Given the description of an element on the screen output the (x, y) to click on. 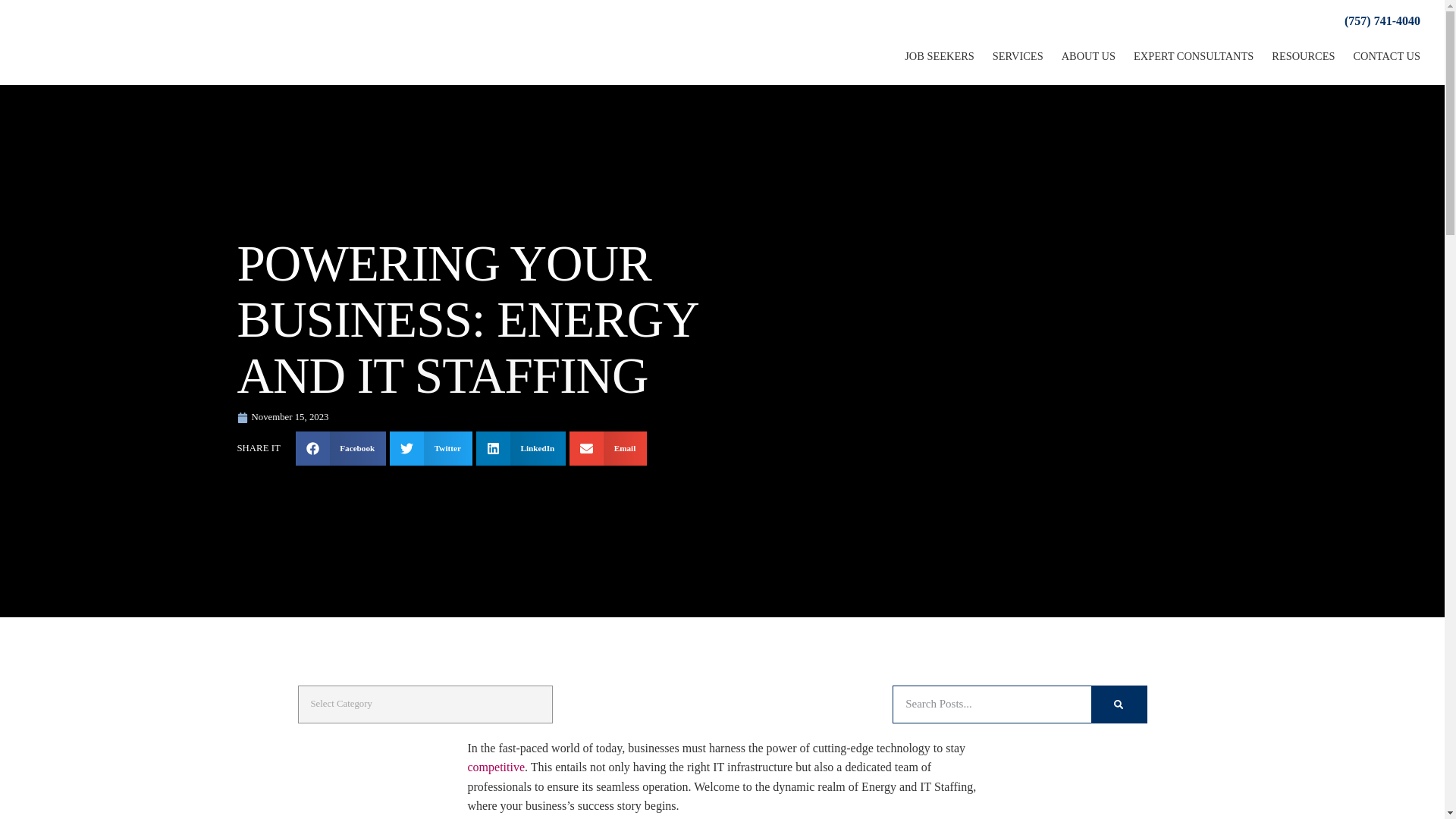
ABOUT US (1088, 55)
RESOURCES (1302, 55)
CONTACT US (1386, 55)
SERVICES (1018, 55)
November 15, 2023 (282, 417)
EXPERT CONSULTANTS (1193, 55)
JOB SEEKERS (939, 55)
competitive (495, 766)
